Given the description of an element on the screen output the (x, y) to click on. 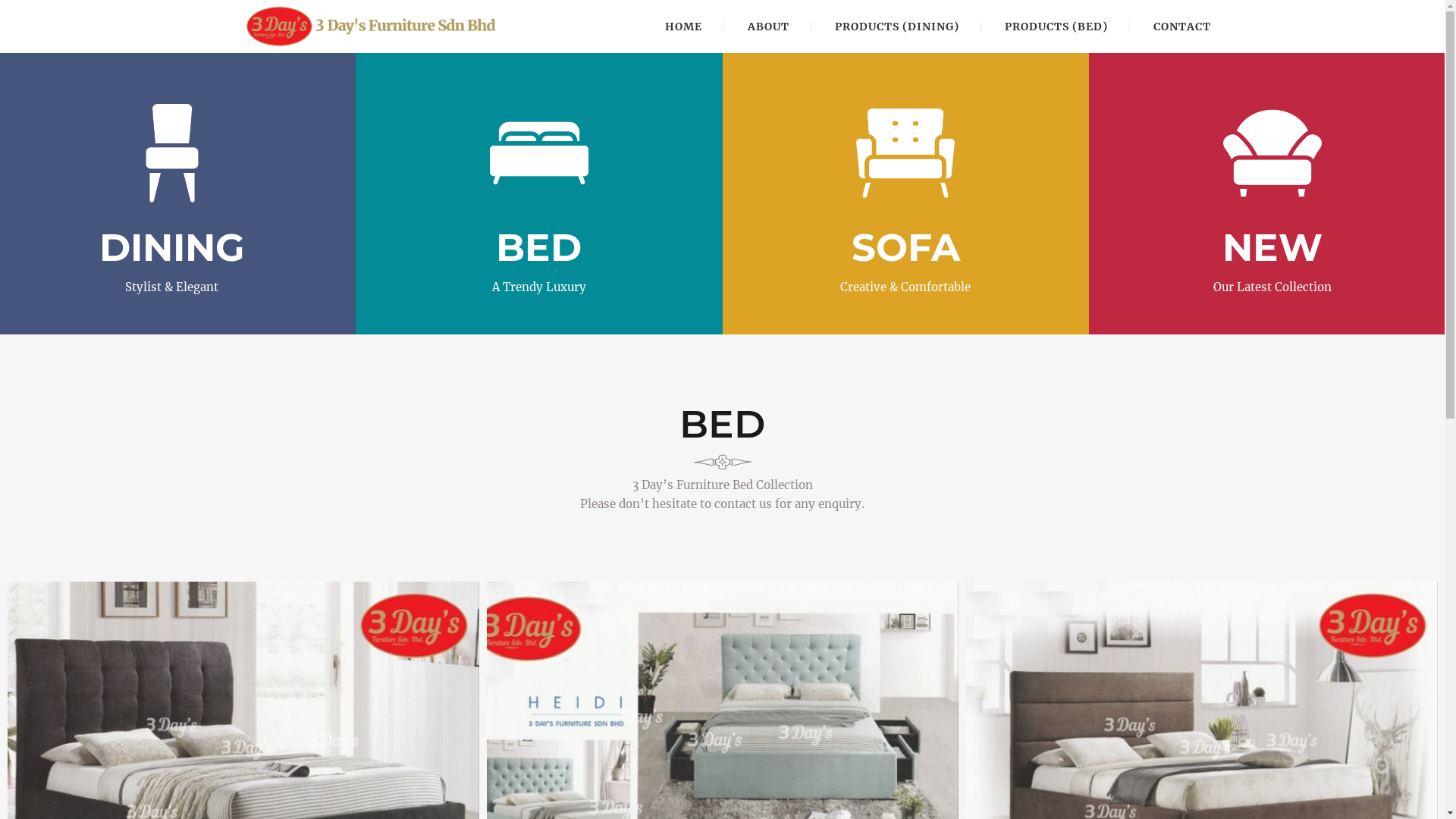
HOME Element type: text (683, 26)
PRODUCTS (BED) Element type: text (1056, 26)
ABOUT Element type: text (768, 26)
BED
A Trendy Luxury Element type: text (538, 193)
SOFA
Creative & Comfortable Element type: text (904, 193)
CONTACT Element type: text (1182, 26)
PRODUCTS (DINING) Element type: text (896, 26)
